Given the description of an element on the screen output the (x, y) to click on. 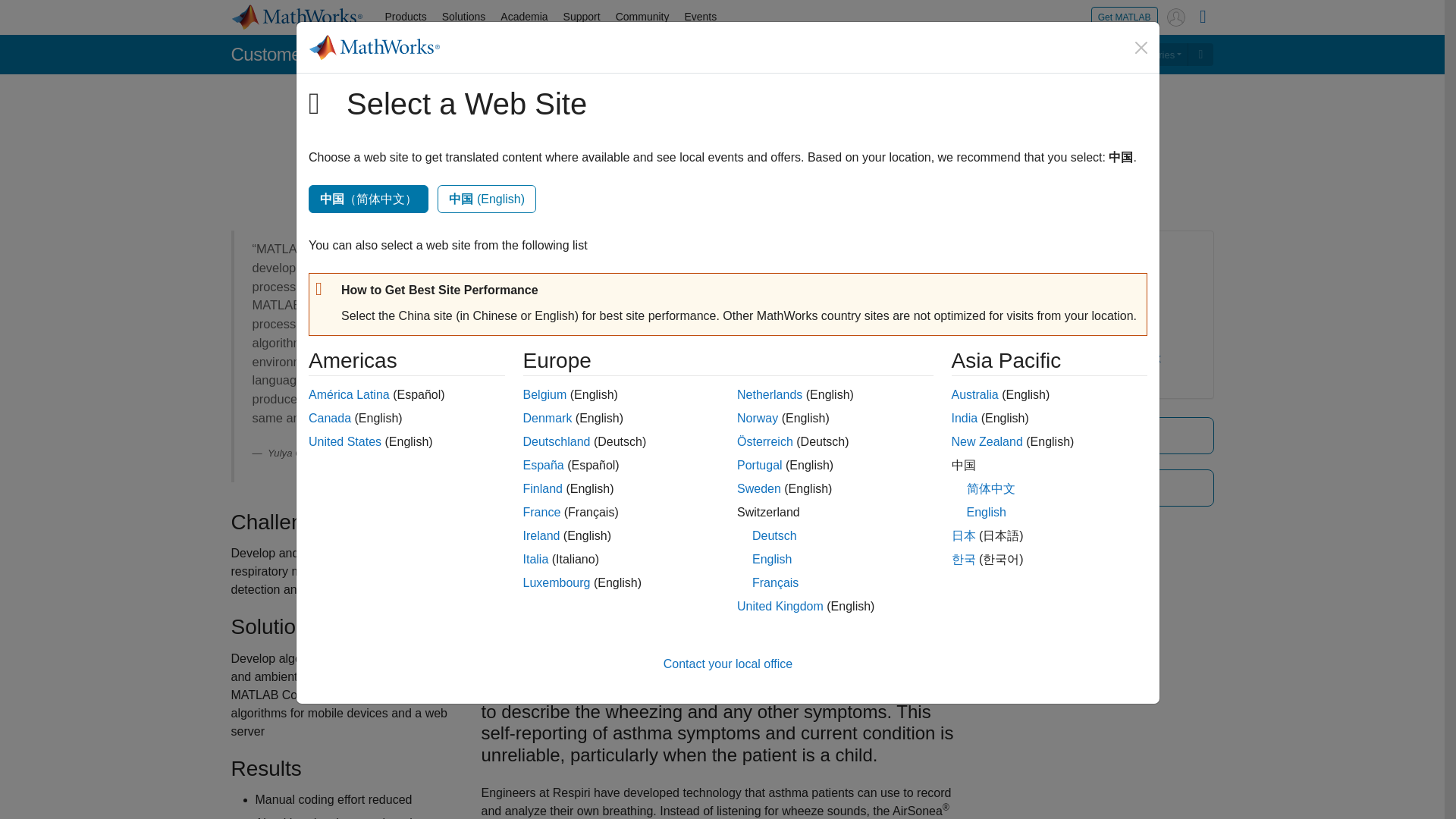
Customer Stories (1140, 54)
Sign In to Your MathWorks Account (1175, 17)
Get MATLAB (1123, 16)
Products (405, 16)
Support (582, 16)
Share (706, 196)
Solutions (463, 16)
Academia (523, 16)
Events (700, 16)
Sign In (1175, 17)
Tweet (754, 196)
Customer Stories (297, 54)
Community (642, 16)
